Given the description of an element on the screen output the (x, y) to click on. 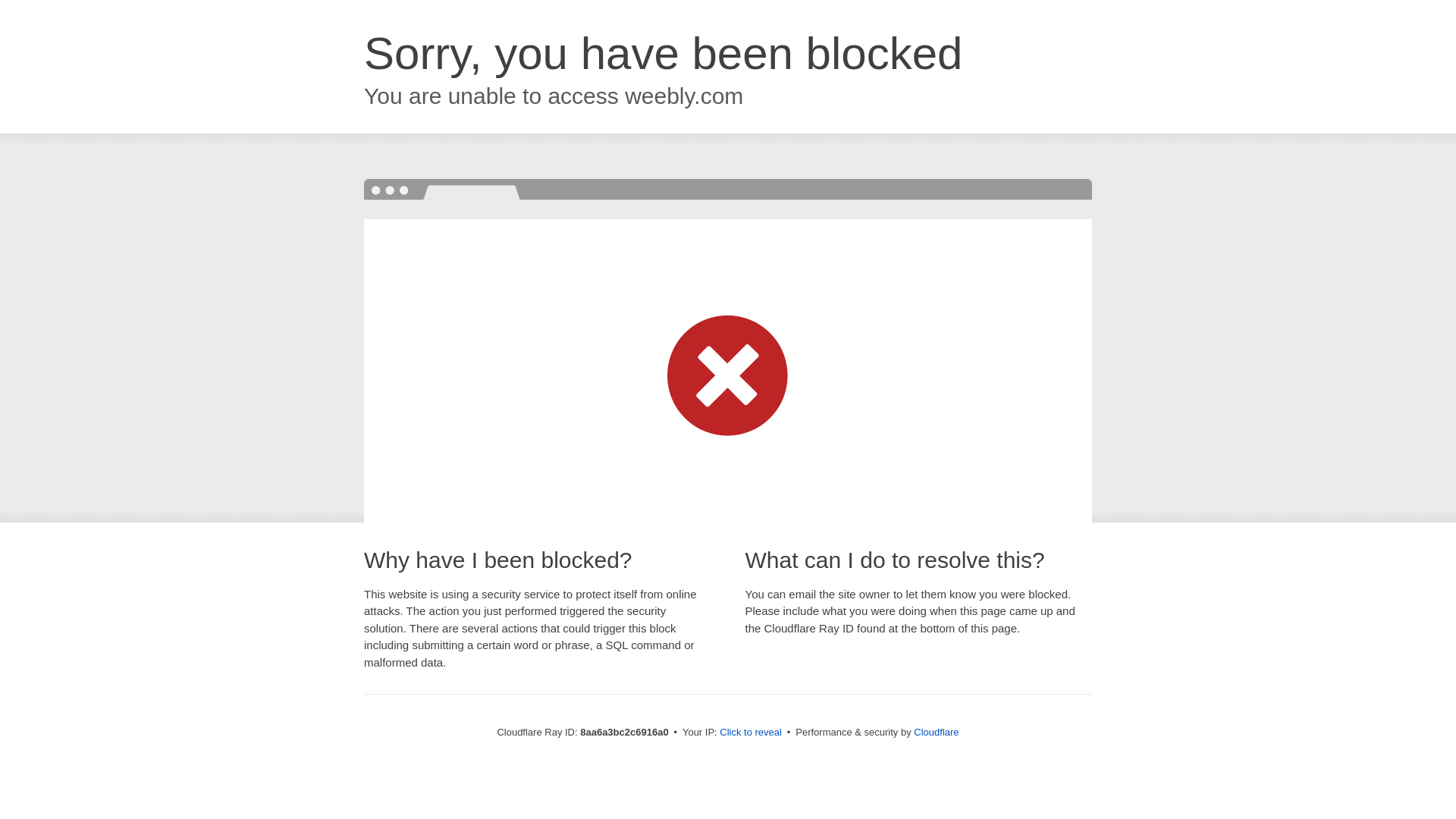
Cloudflare (936, 731)
Click to reveal (750, 732)
